Given the description of an element on the screen output the (x, y) to click on. 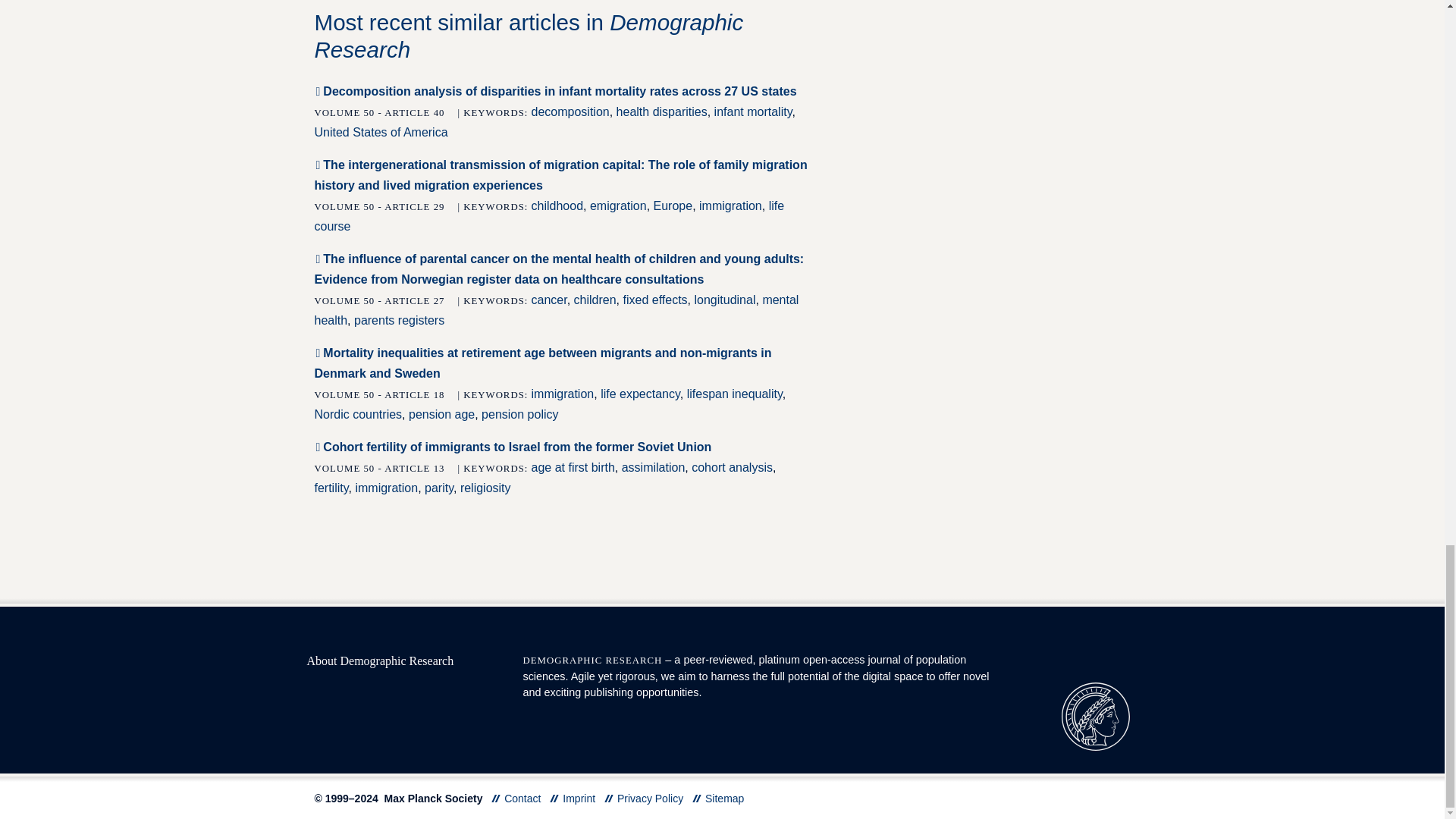
Max Planck Society (1095, 715)
separator (697, 798)
separator (554, 798)
Max Planck Society (1095, 716)
separator (496, 798)
separator (608, 798)
